Given the description of an element on the screen output the (x, y) to click on. 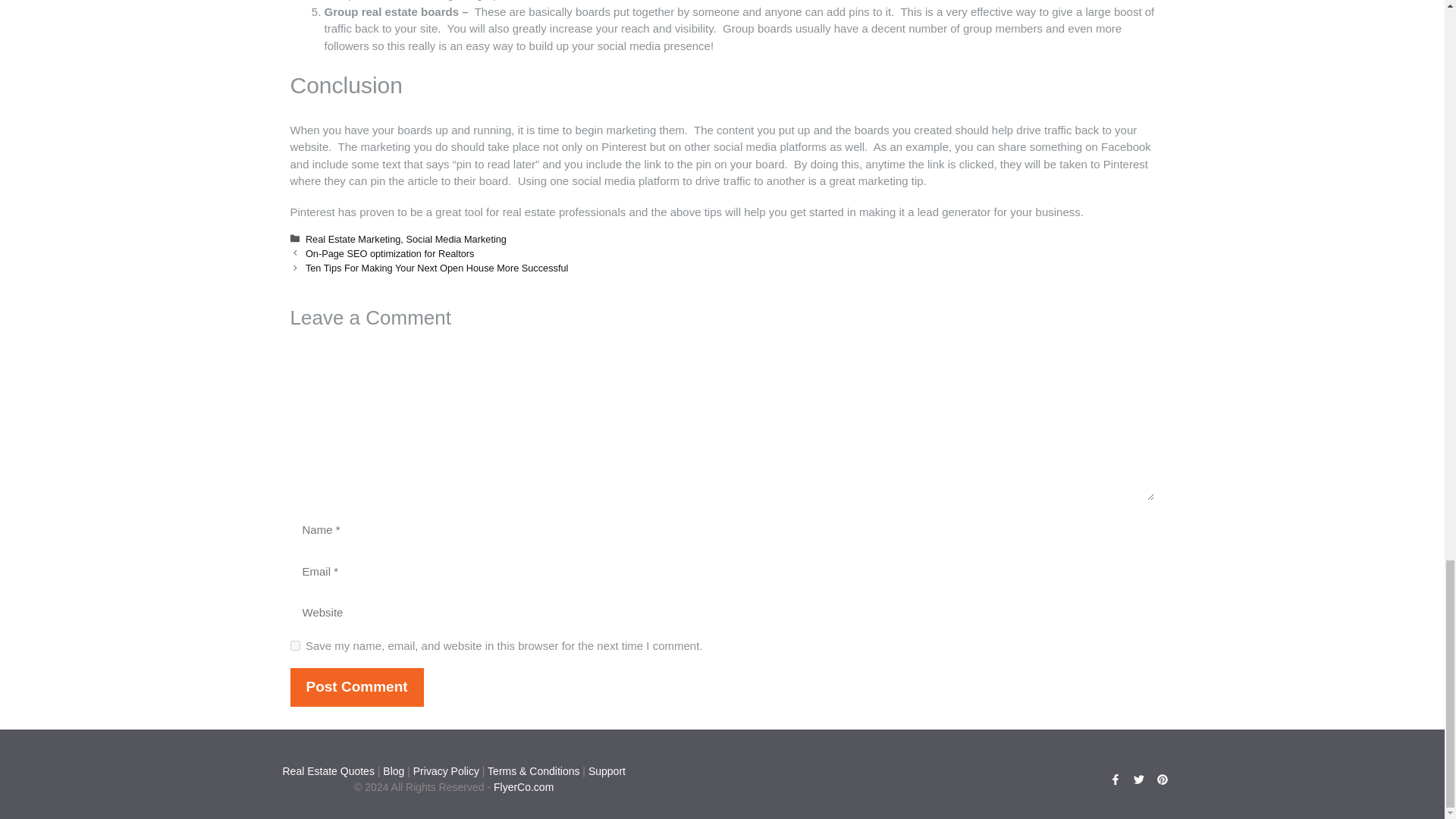
Social Media Marketing (456, 238)
Post Comment (356, 687)
FlyerCo.com (523, 787)
Real Estate Quotes (328, 770)
Privacy Policy (446, 770)
Blog (393, 770)
Blog (393, 770)
On-Page SEO optimization for Realtors (389, 253)
yes (294, 645)
Ten Tips For Making Your Next Open House More Successful (437, 267)
